Given the description of an element on the screen output the (x, y) to click on. 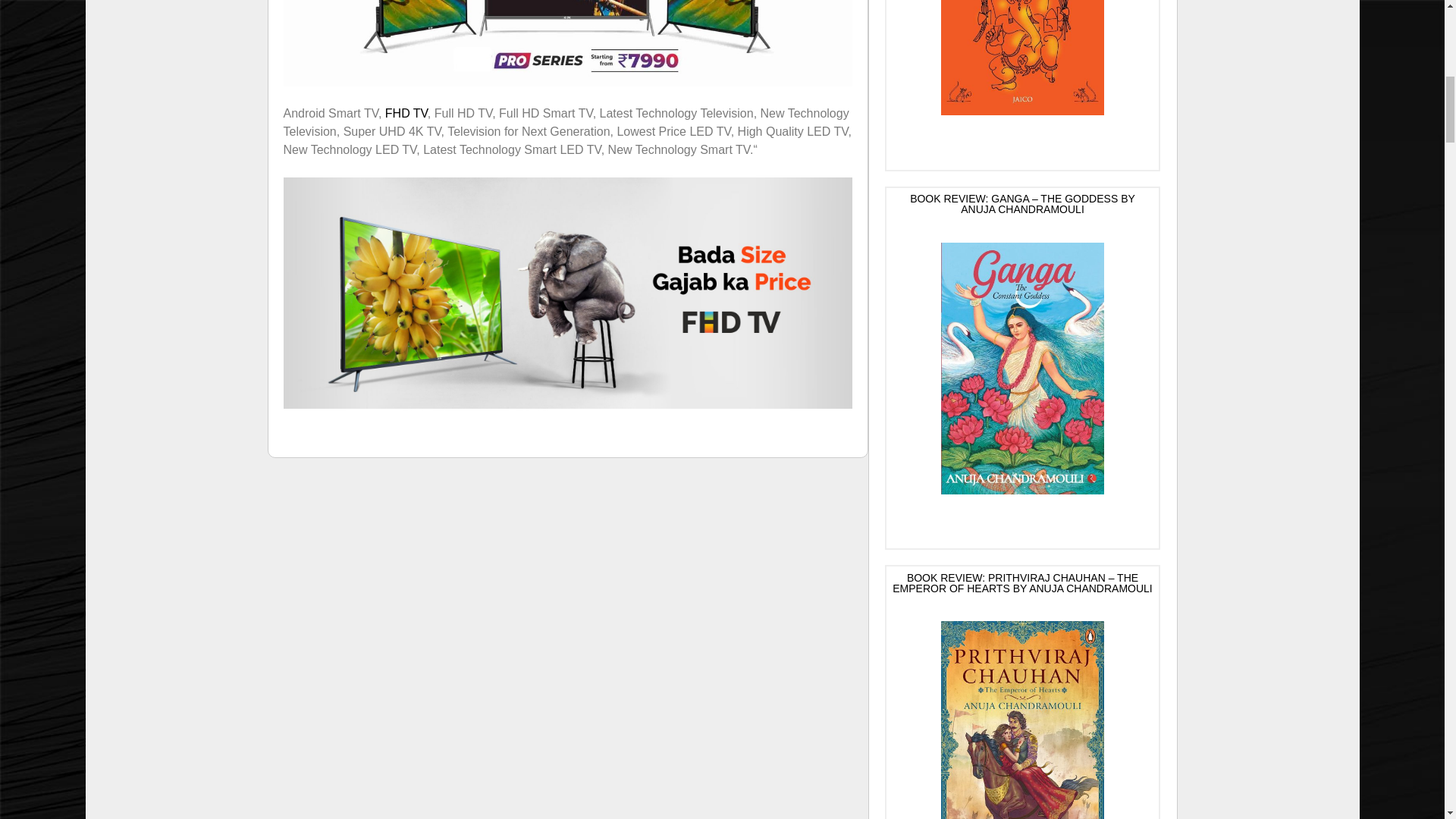
FHD TV (406, 113)
